Given the description of an element on the screen output the (x, y) to click on. 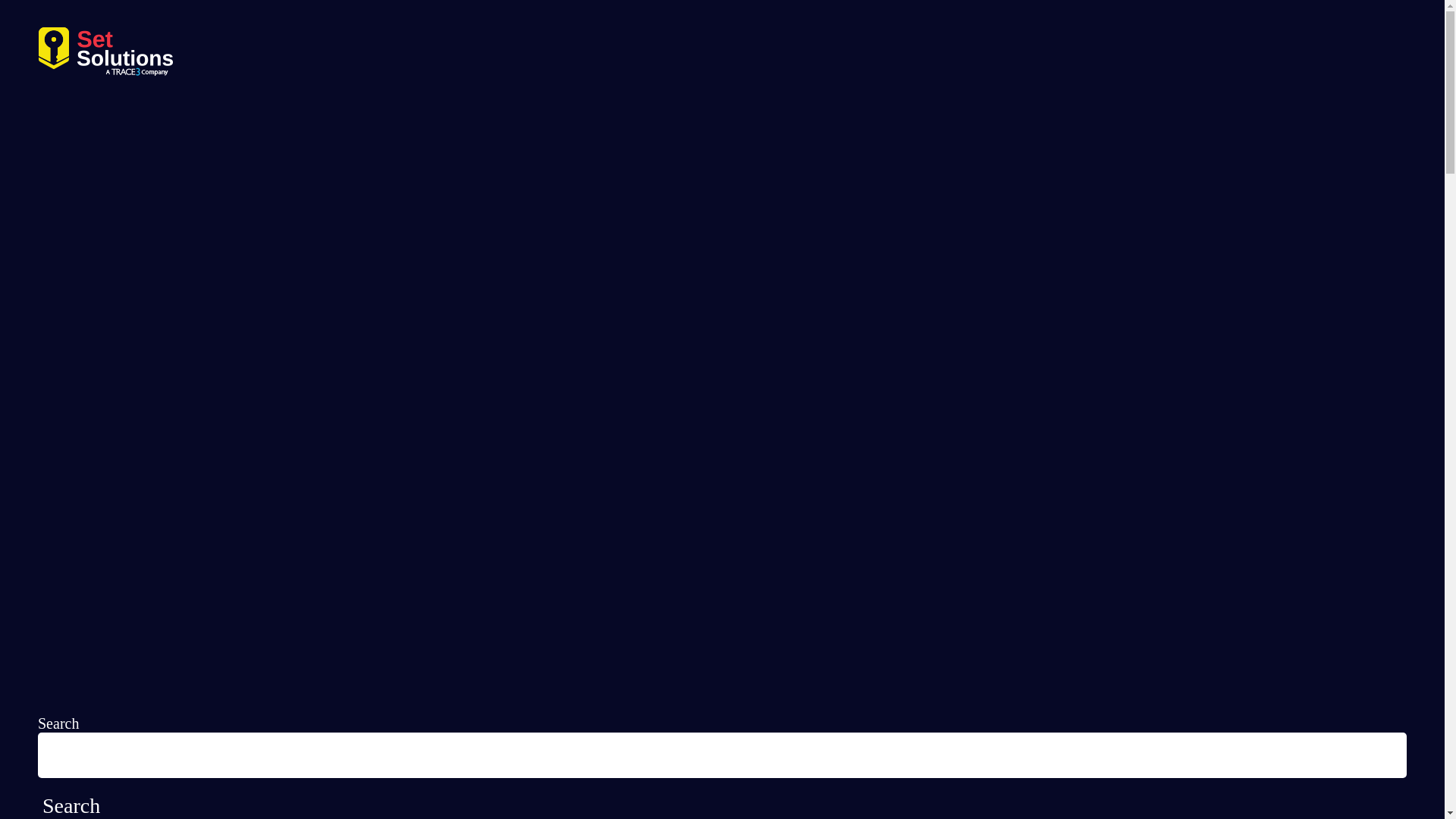
Search (70, 806)
Search (70, 806)
Search (57, 723)
Search (70, 806)
